Given the description of an element on the screen output the (x, y) to click on. 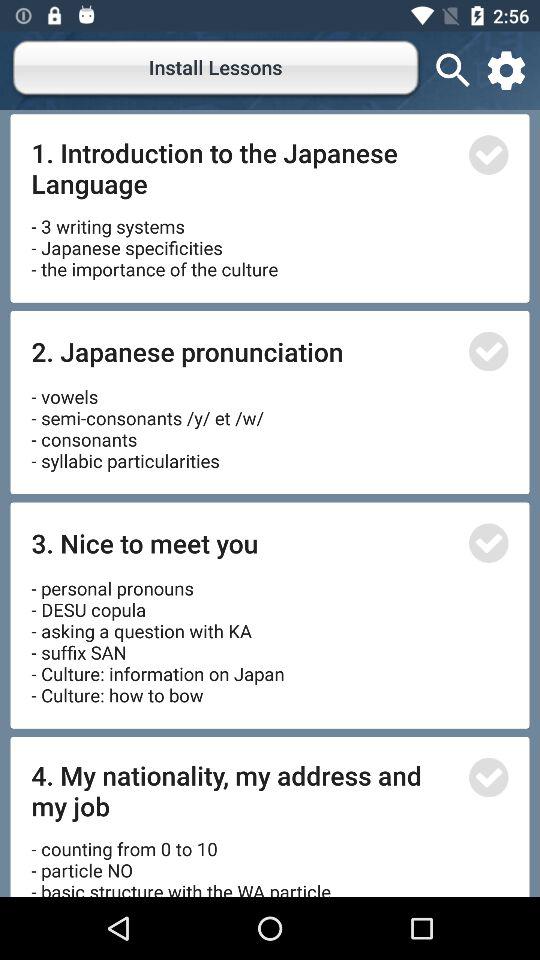
select lesson (488, 154)
